Given the description of an element on the screen output the (x, y) to click on. 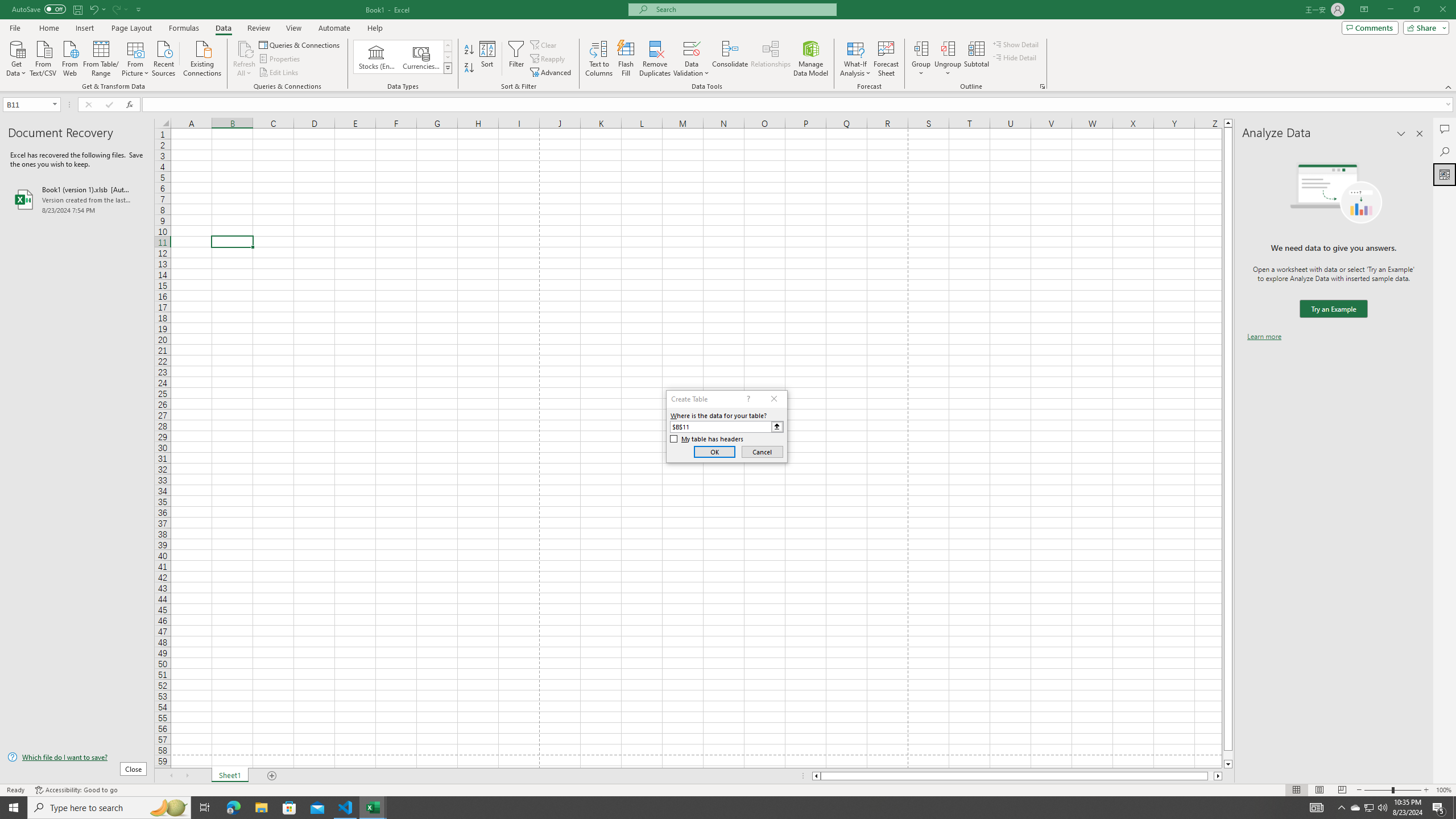
Formula Bar (799, 104)
Column right (1218, 775)
Show Detail (1016, 44)
